Given the description of an element on the screen output the (x, y) to click on. 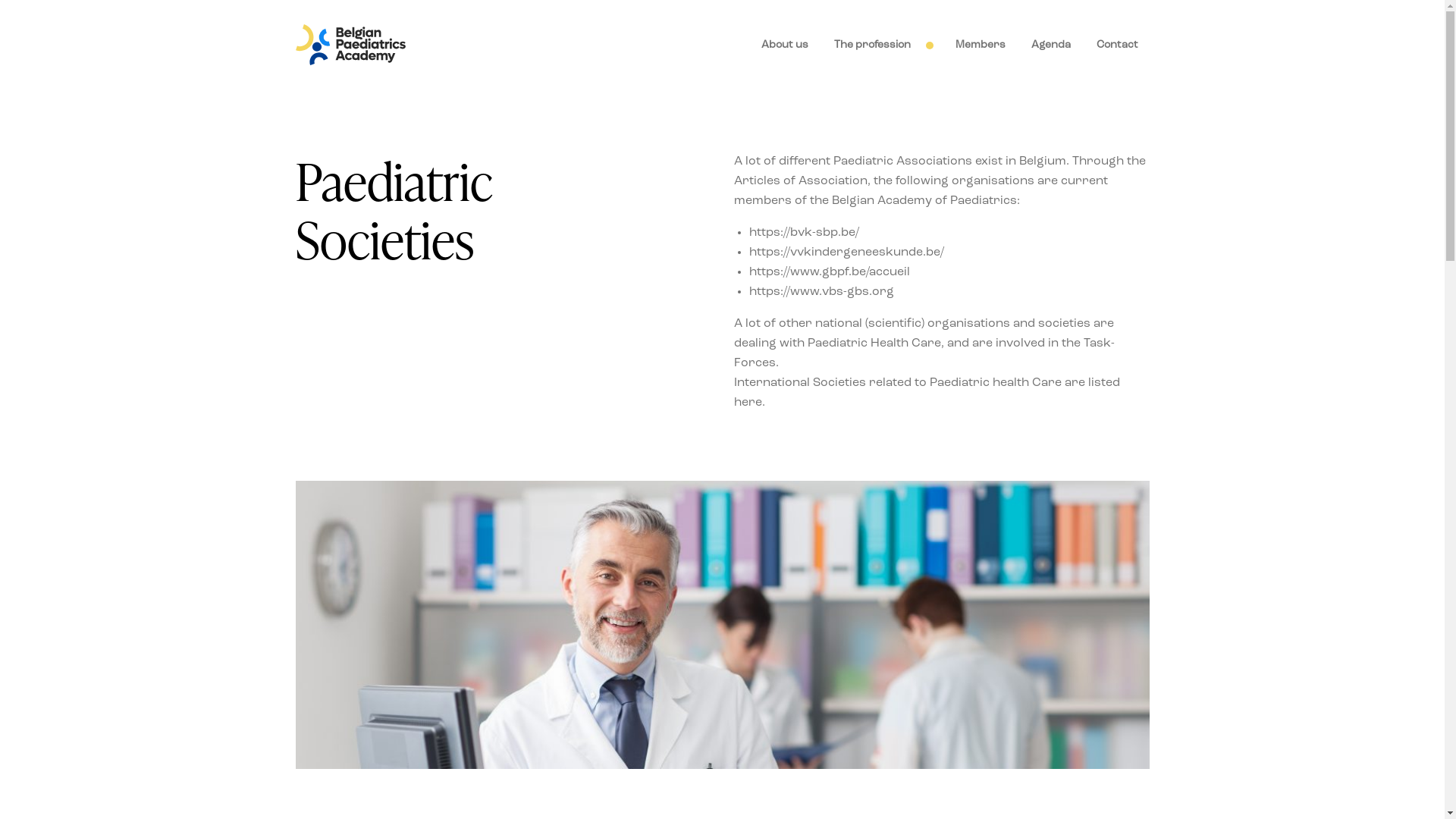
The profession Element type: text (881, 45)
Contact Element type: text (1116, 45)
Agenda Element type: text (1050, 45)
https://bvk-sbp.be/ Element type: text (804, 232)
https://www.gbpf.be/accueil Element type: text (829, 272)
https://www.vbs-gbs.org Element type: text (821, 291)
Members Element type: text (979, 45)
https://vvkindergeneeskunde.be/ Element type: text (846, 252)
About us Element type: text (784, 45)
